Given the description of an element on the screen output the (x, y) to click on. 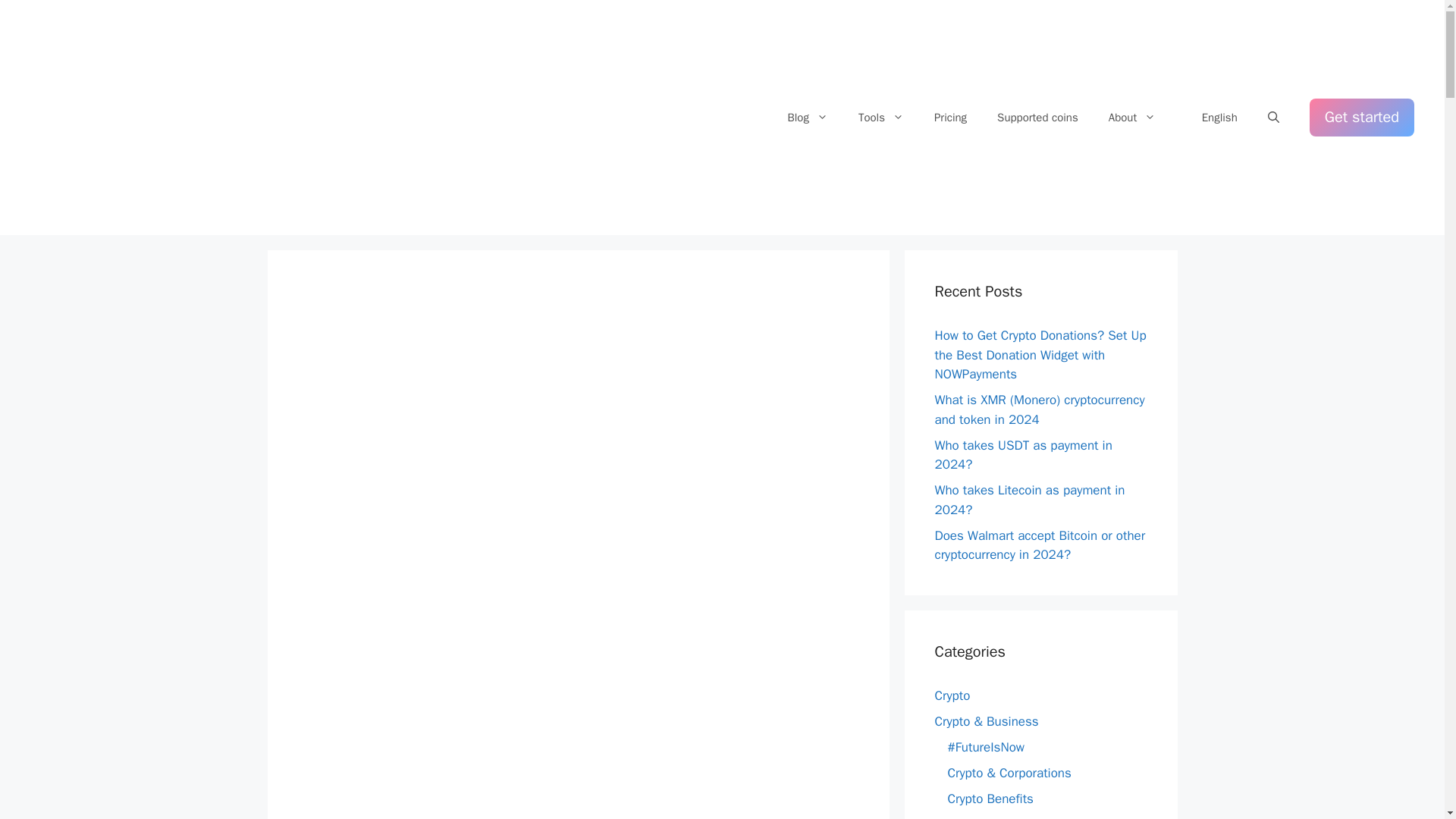
tools to accept crypto payments (880, 117)
Tools (880, 117)
Supported coins (1037, 117)
nowpayments fees (949, 117)
Pricing (949, 117)
blog about crypto payments (807, 117)
Blog (807, 117)
About (1131, 117)
Get started (1360, 117)
English (1211, 117)
